Given the description of an element on the screen output the (x, y) to click on. 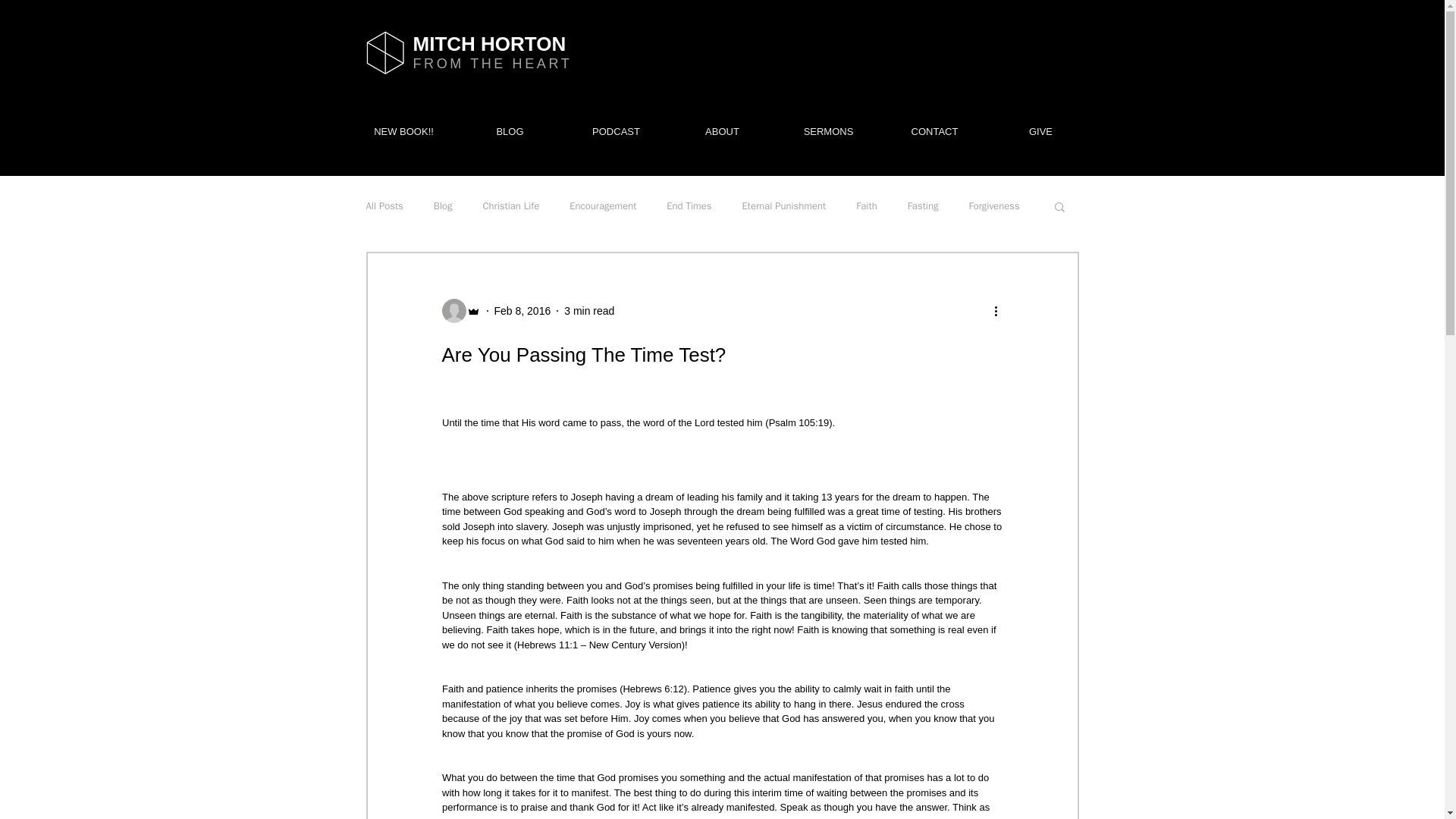
Eternal Punishment (784, 205)
GIVE (1040, 131)
Encouragement (602, 205)
All Posts (384, 205)
Forgiveness (993, 205)
CONTACT (933, 131)
Christian Life (511, 205)
3 min read (589, 310)
End Times (688, 205)
ABOUT (721, 131)
Blog (442, 205)
MITCH HORTON (489, 43)
BLOG (509, 131)
FROM THE HEART (492, 63)
Feb 8, 2016 (523, 310)
